Given the description of an element on the screen output the (x, y) to click on. 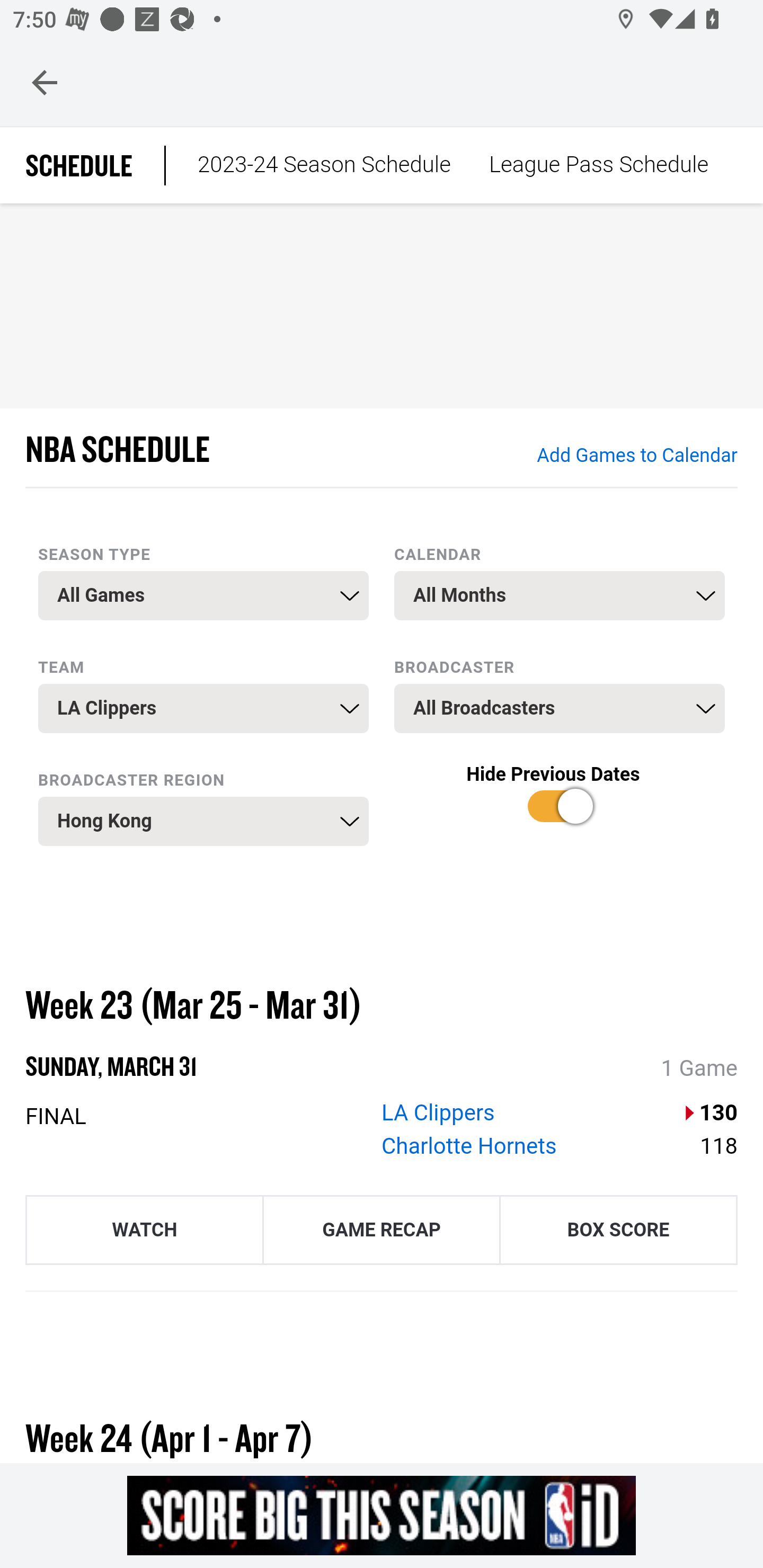
Navigate up (44, 82)
2023-24 Season Schedule (323, 165)
League Pass Schedule (598, 165)
Add Games to Calendar (636, 455)
All Games (203, 595)
All Months (559, 595)
LA Clippers (203, 708)
All Broadcasters (559, 708)
Hong Kong (203, 821)
LA Clippers (438, 1112)
Charlotte Hornets (469, 1145)
WATCH (144, 1228)
GAME RECAP (381, 1228)
BOX SCORE (618, 1228)
g5nqqygr7owph (381, 1515)
